Given the description of an element on the screen output the (x, y) to click on. 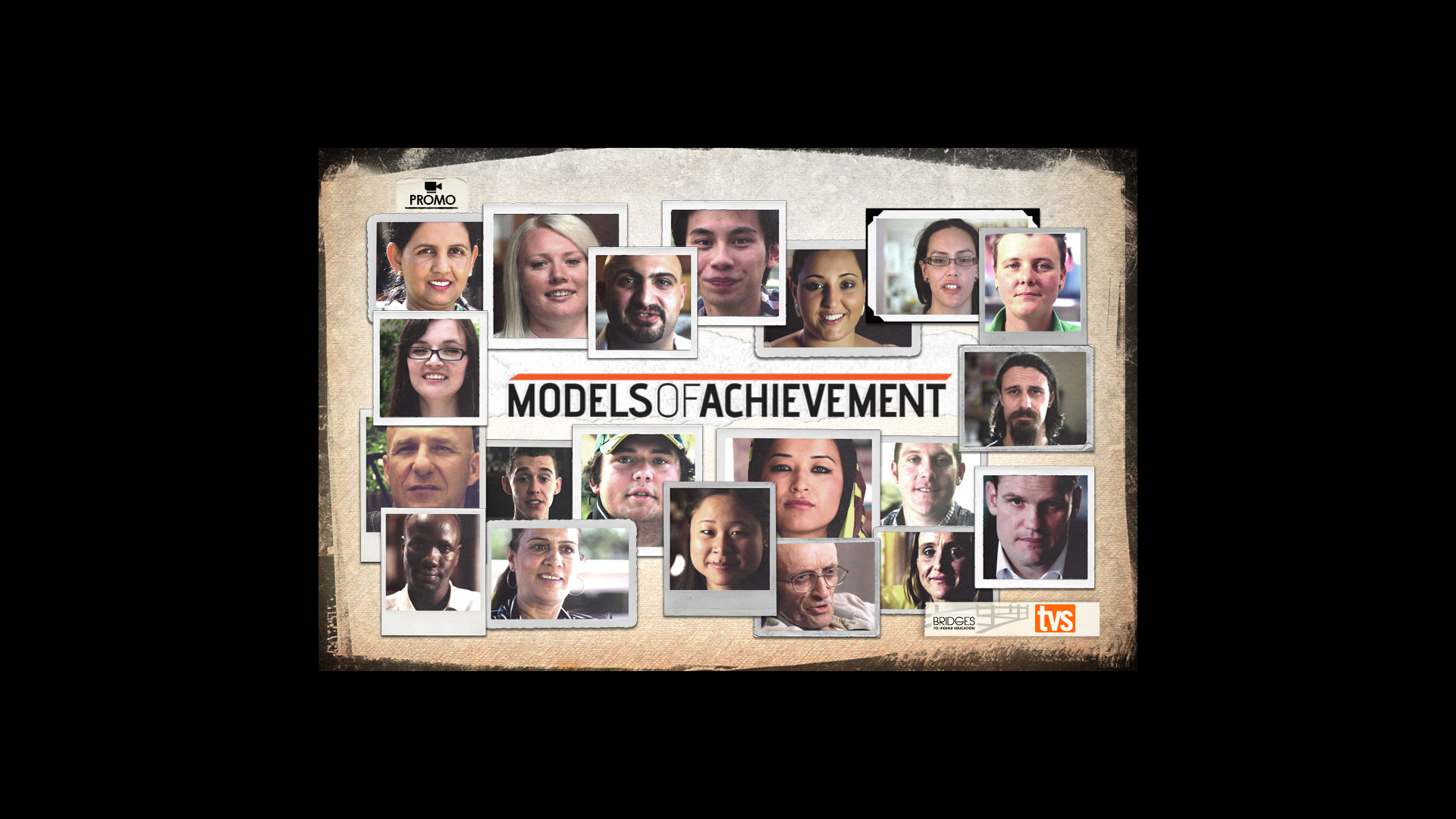
Watch the promo Element type: hover (431, 195)
